Given the description of an element on the screen output the (x, y) to click on. 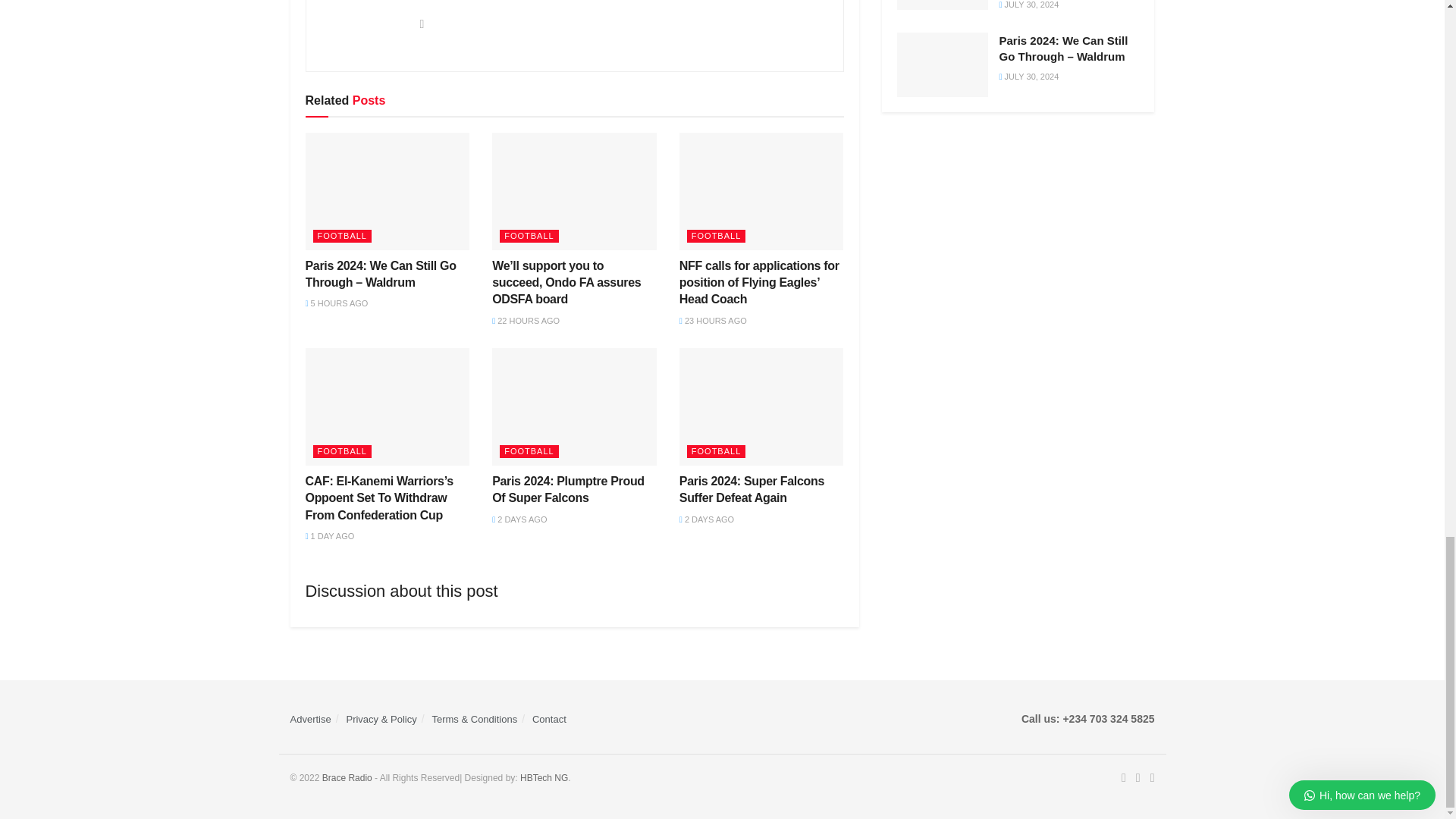
Jegtheme (543, 777)
Brace Radio (346, 777)
